Given the description of an element on the screen output the (x, y) to click on. 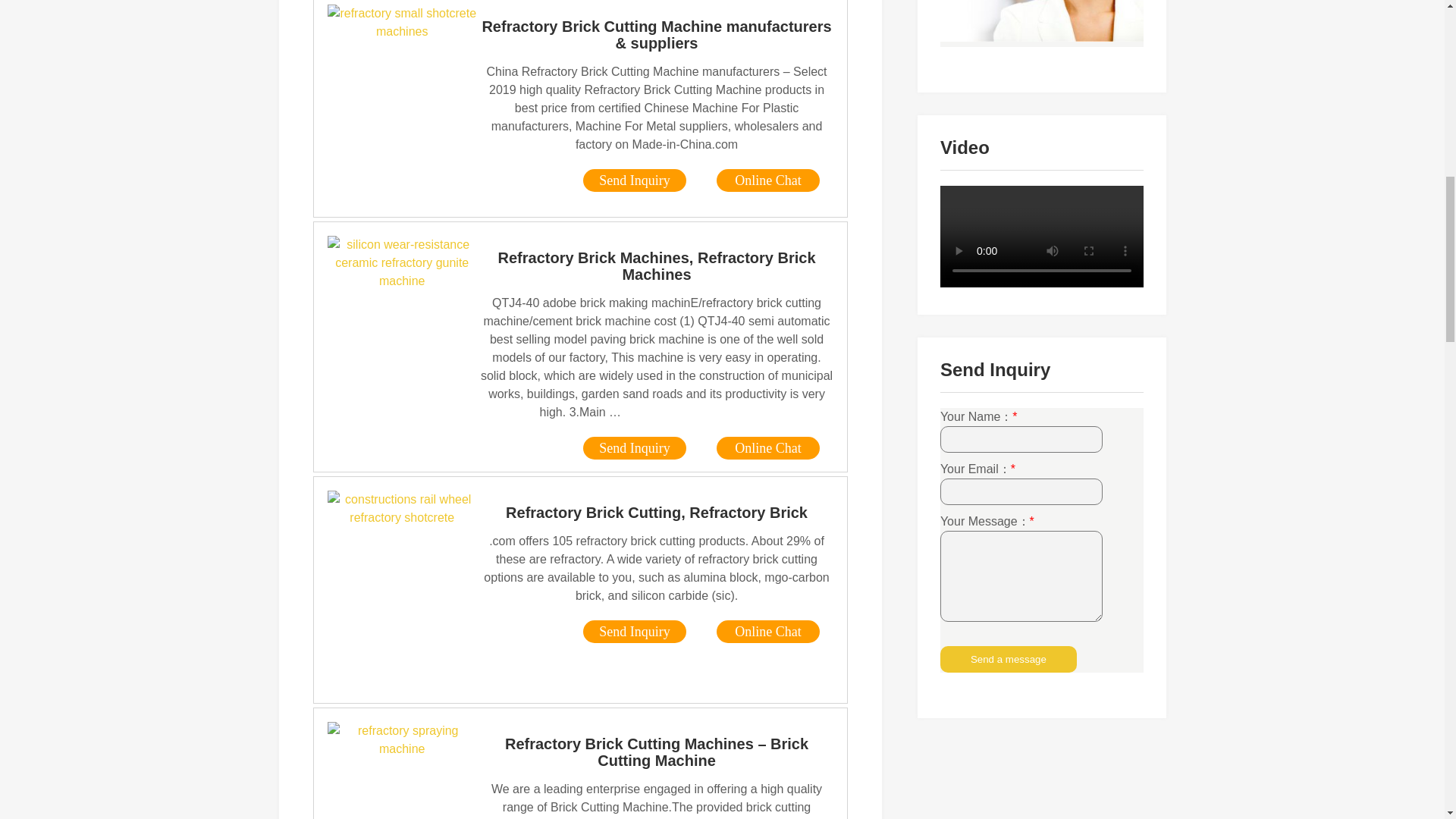
Send a message (1008, 659)
Send a message (1008, 659)
